Given the description of an element on the screen output the (x, y) to click on. 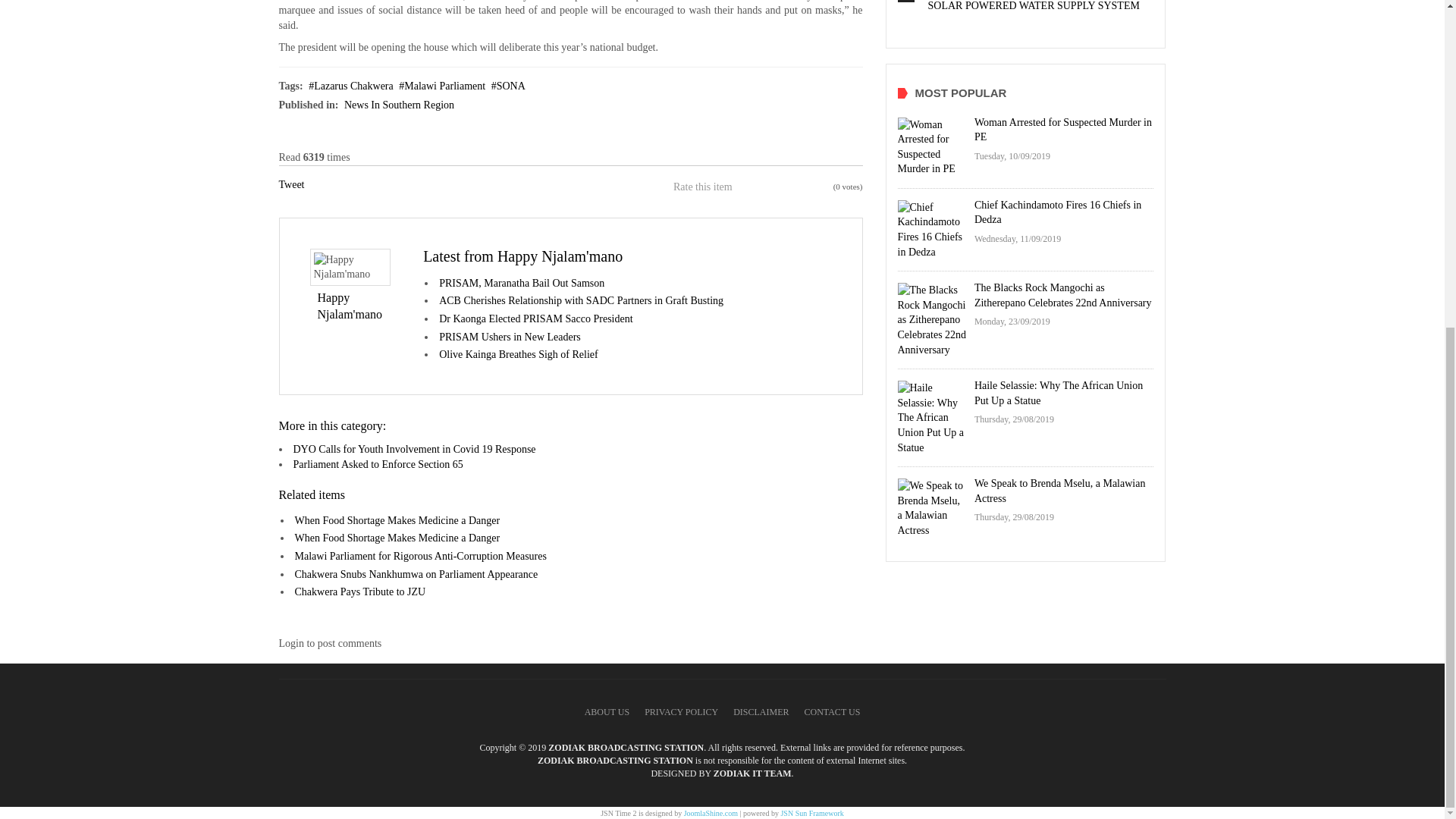
1 star out of 5 (744, 186)
SONA (508, 85)
5 stars out of 5 (782, 186)
Lazarus Chakwera (350, 85)
3 stars out of 5 (763, 186)
1 (744, 186)
Tweet (291, 184)
4 stars out of 5 (772, 186)
2 stars out of 5 (754, 186)
2 (754, 186)
5 (782, 186)
JSN Sun Framework is the best Joomla template framework (811, 813)
